Given the description of an element on the screen output the (x, y) to click on. 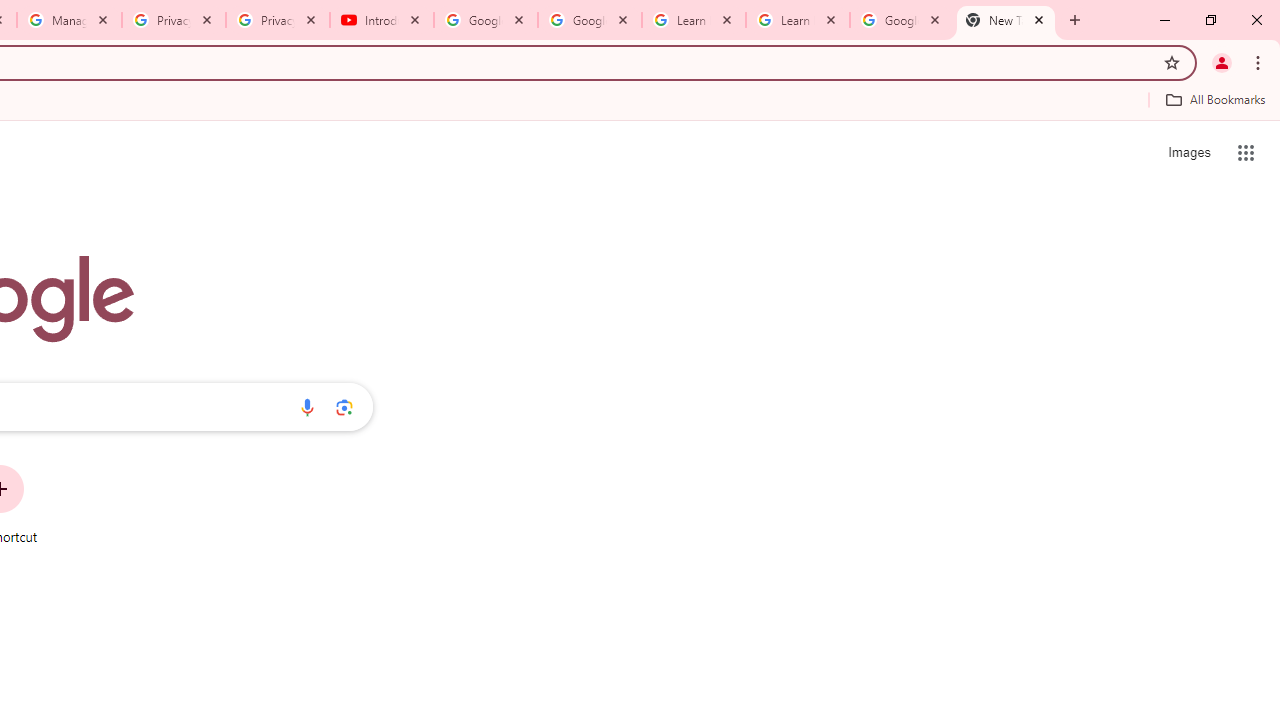
Search by image (344, 407)
Google Account Help (485, 20)
All Bookmarks (1215, 99)
Introduction | Google Privacy Policy - YouTube (381, 20)
Search for Images  (1188, 152)
